Given the description of an element on the screen output the (x, y) to click on. 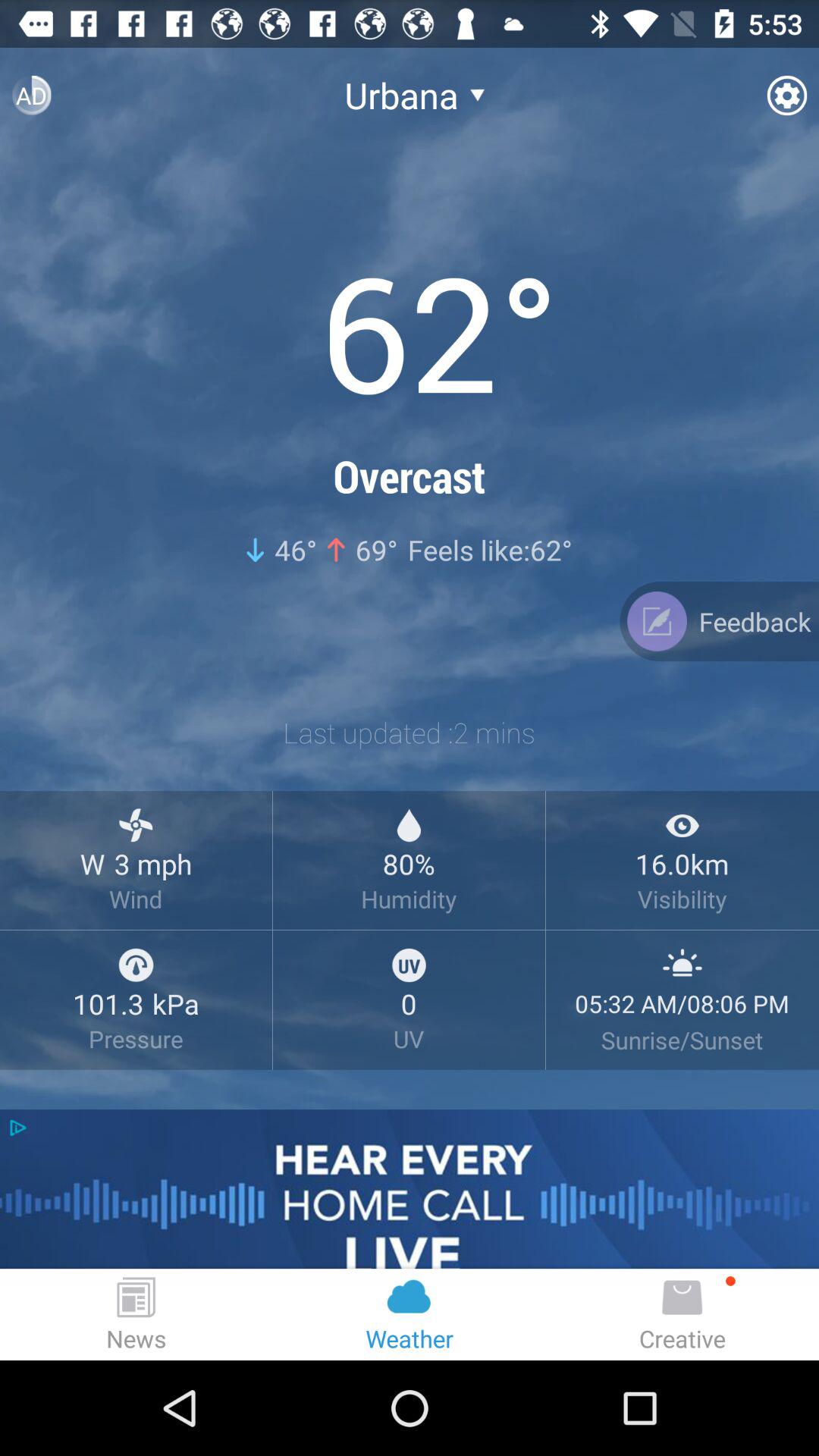
no tagging (409, 930)
click on the icon above the wind (136, 825)
click on the icon above visibility (681, 825)
